Given the description of an element on the screen output the (x, y) to click on. 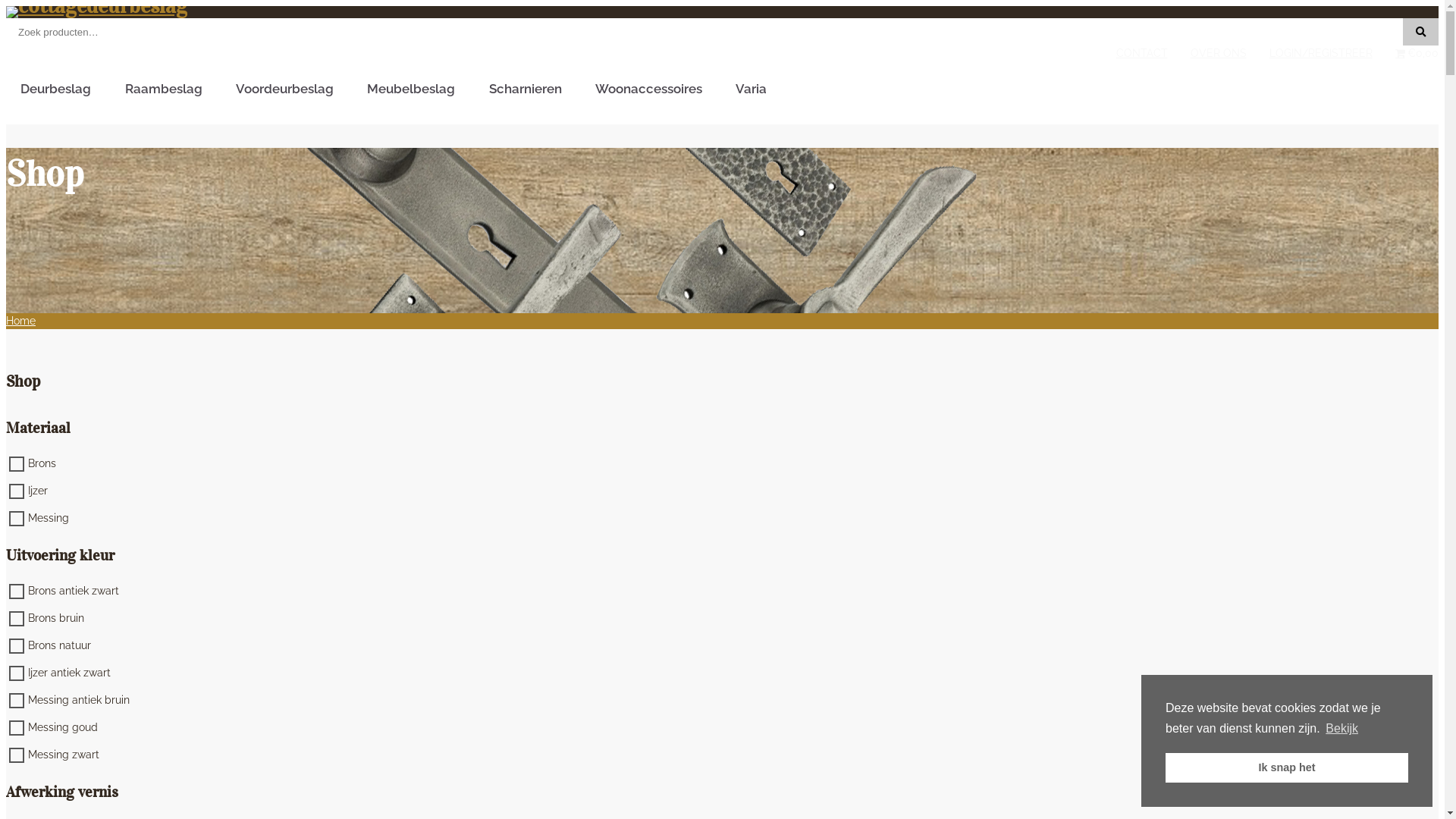
Raambeslag Element type: text (164, 92)
Home Element type: text (20, 320)
OVER ONS Element type: text (1217, 53)
CONTACT Element type: text (1140, 53)
Meubelbeslag Element type: text (412, 92)
Deurbeslag Element type: text (57, 92)
Zoeken Element type: text (1420, 31)
Varia Element type: text (753, 92)
LOGIN/REGISTREER Element type: text (1319, 53)
Ik snap het Element type: text (1286, 767)
Bekijk Element type: text (1341, 728)
Voordeurbeslag Element type: text (286, 92)
Woonaccessoires Element type: text (650, 92)
Scharnieren Element type: text (527, 92)
